Given the description of an element on the screen output the (x, y) to click on. 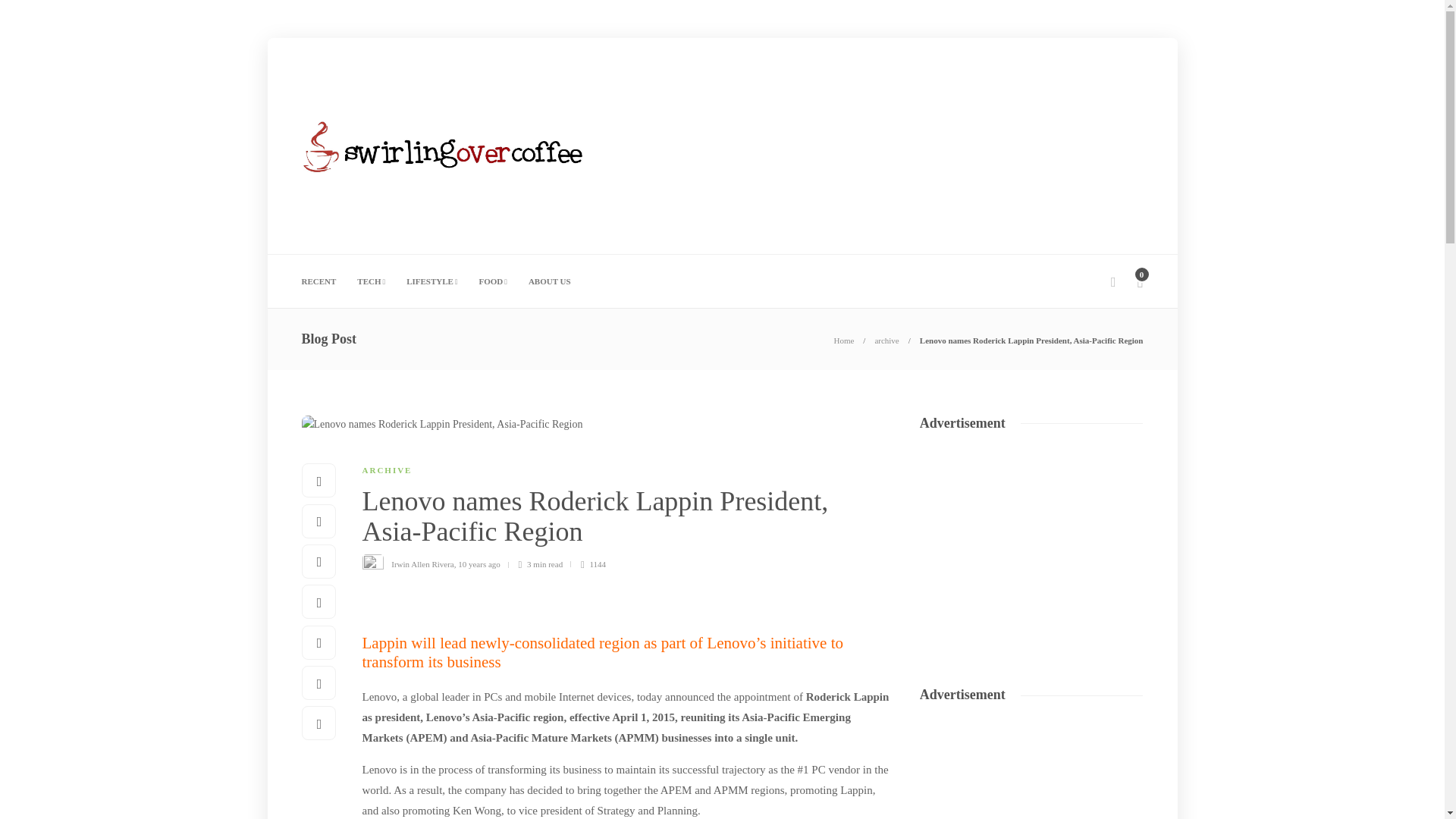
Advertisement (1033, 768)
Home (842, 339)
Lenovo names Roderick Lappin President, Asia-Pacific Region (1031, 339)
Advertisement (866, 204)
Advertisement (1033, 541)
